Given the description of an element on the screen output the (x, y) to click on. 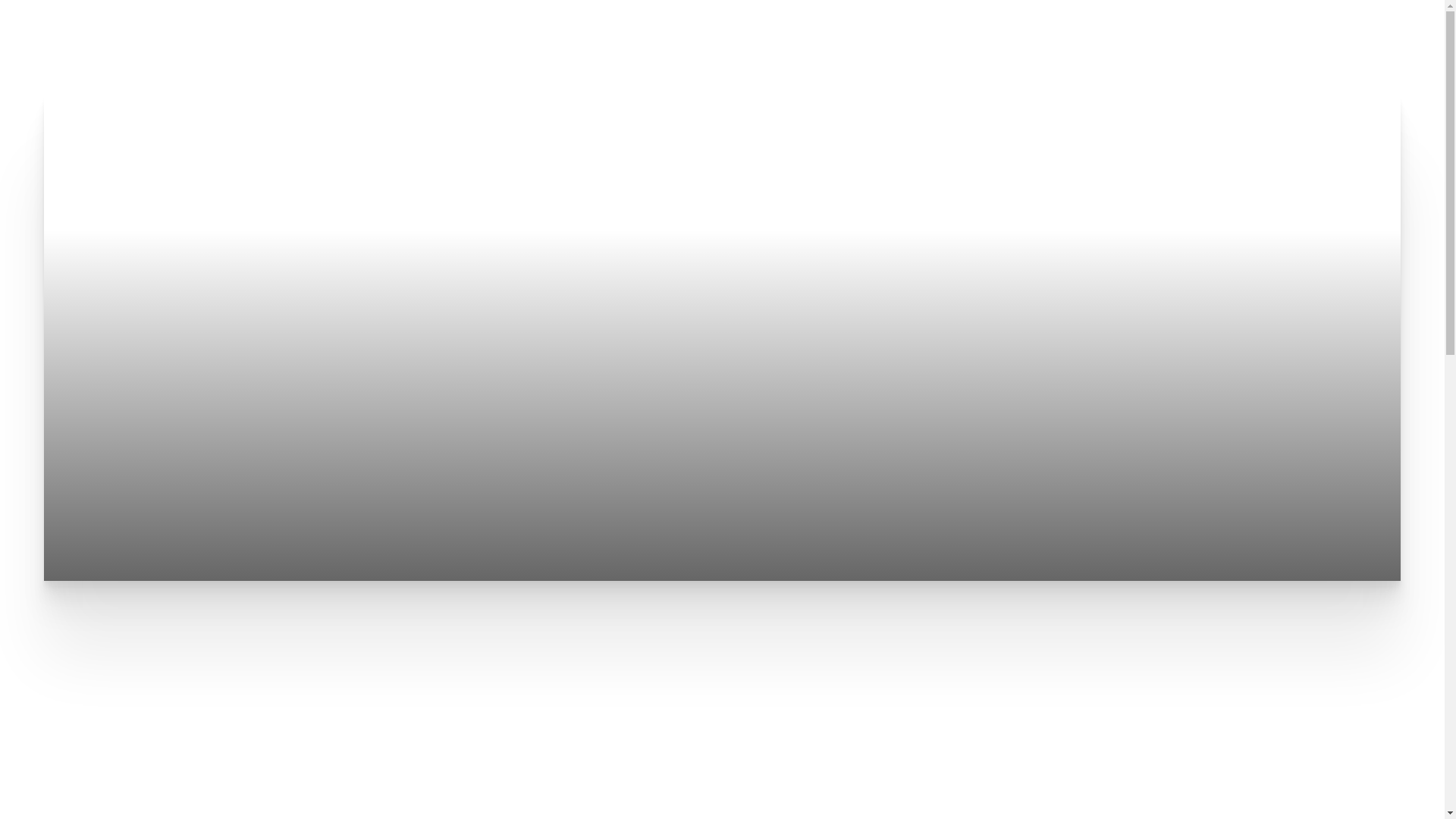
Schedule Consultation (174, 46)
